Given the description of an element on the screen output the (x, y) to click on. 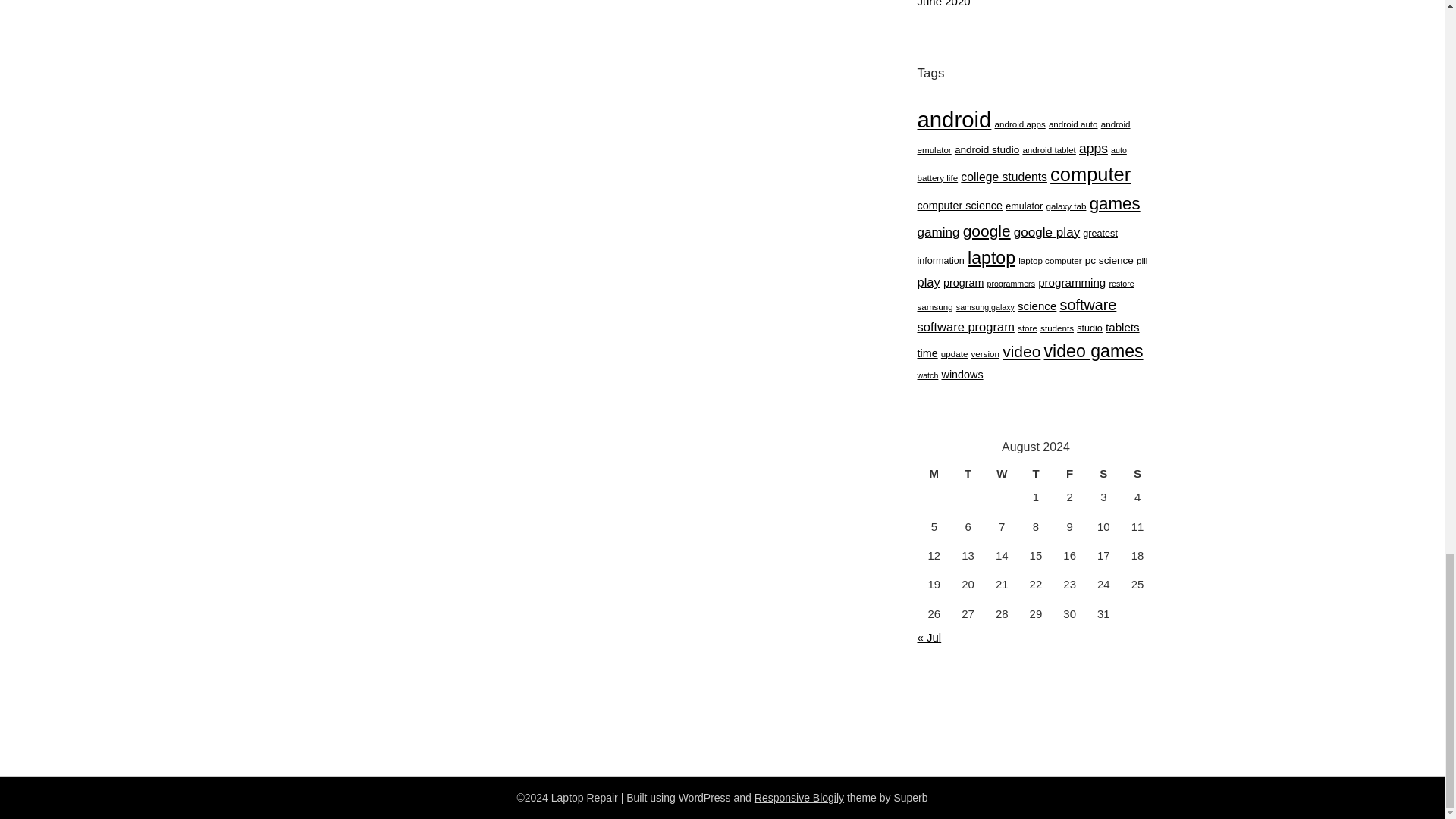
Sunday (1137, 474)
Saturday (1103, 474)
Wednesday (1002, 474)
Tuesday (967, 474)
Thursday (1035, 474)
Monday (934, 474)
Friday (1069, 474)
